Given the description of an element on the screen output the (x, y) to click on. 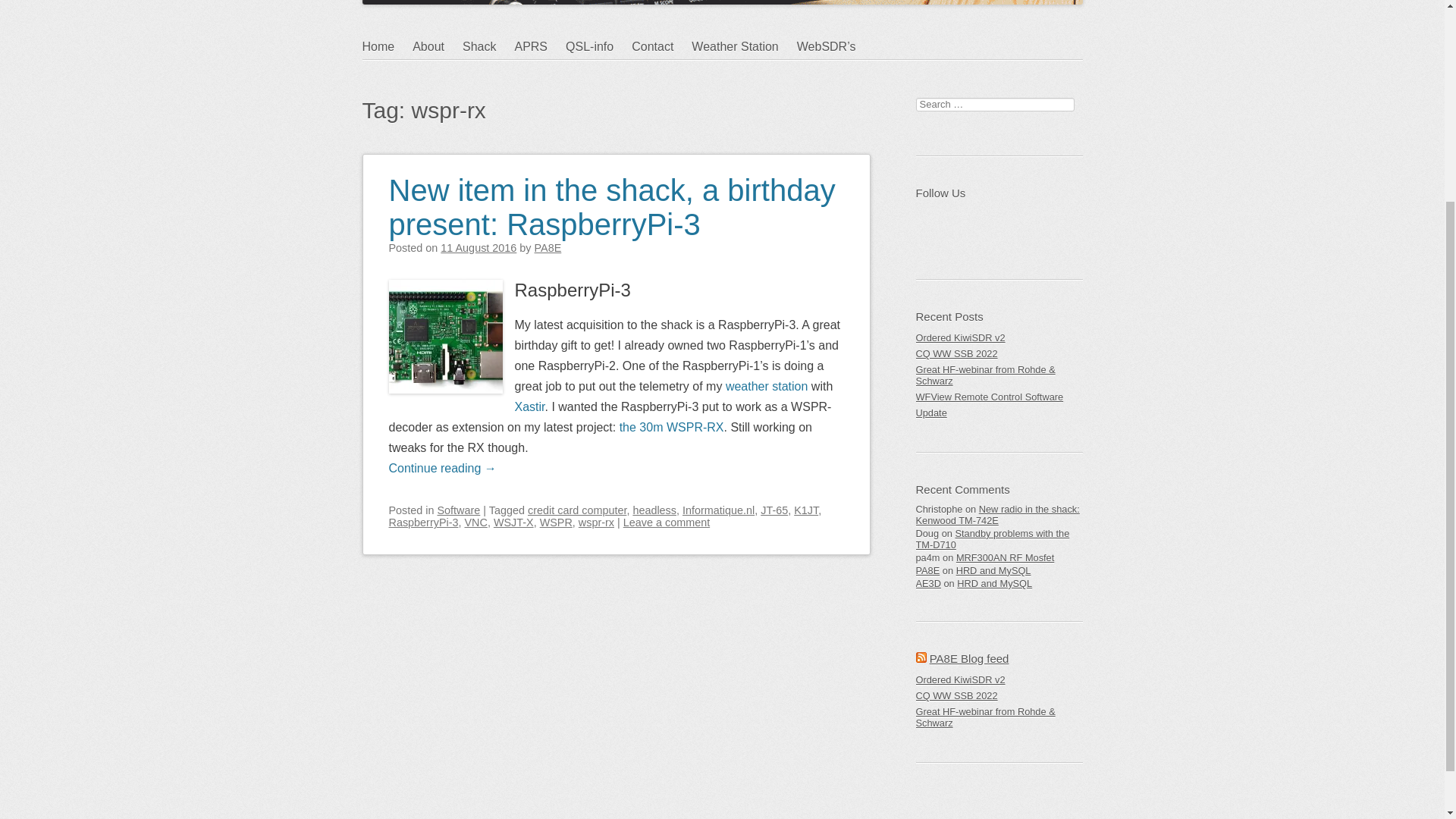
headless (654, 510)
New item in the shack, a birthday present: RaspberryPi-3 (611, 197)
WSPR (556, 522)
A glimp of the radioroom. (488, 46)
Xastir (528, 406)
Contact (661, 46)
Weather Station (743, 46)
Home (387, 46)
Frontpage of blog (387, 46)
View all posts by PA8E (548, 247)
